Given the description of an element on the screen output the (x, y) to click on. 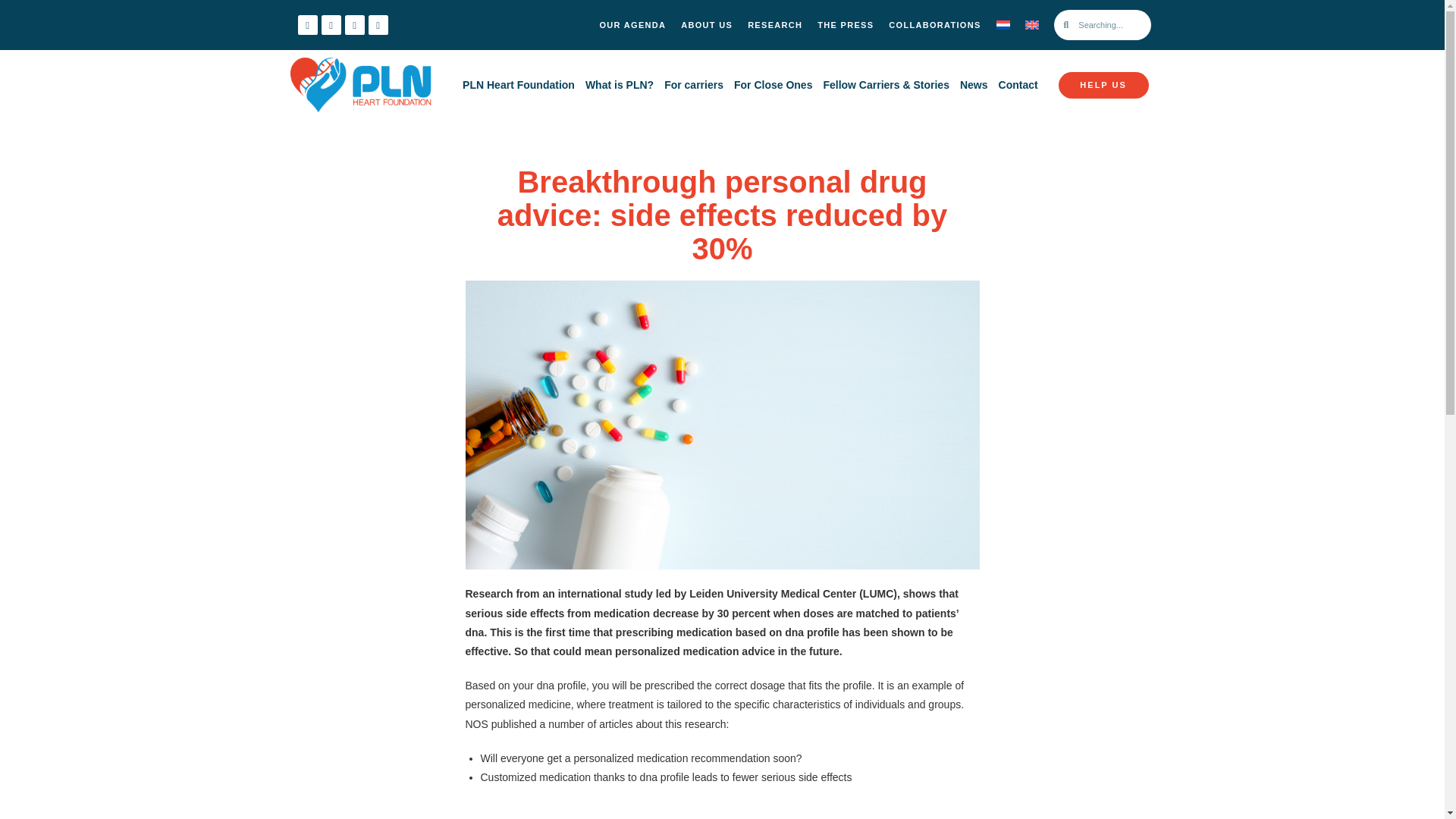
PLN Heart Foundation (518, 84)
For carriers (694, 84)
THE PRESS (844, 24)
For Close Ones (772, 84)
Contact (1017, 84)
What is PLN? (619, 84)
OUR AGENDA (631, 24)
ABOUT US (705, 24)
RESEARCH (774, 24)
HELP US (1103, 85)
COLLABORATIONS (934, 24)
News (973, 84)
